Given the description of an element on the screen output the (x, y) to click on. 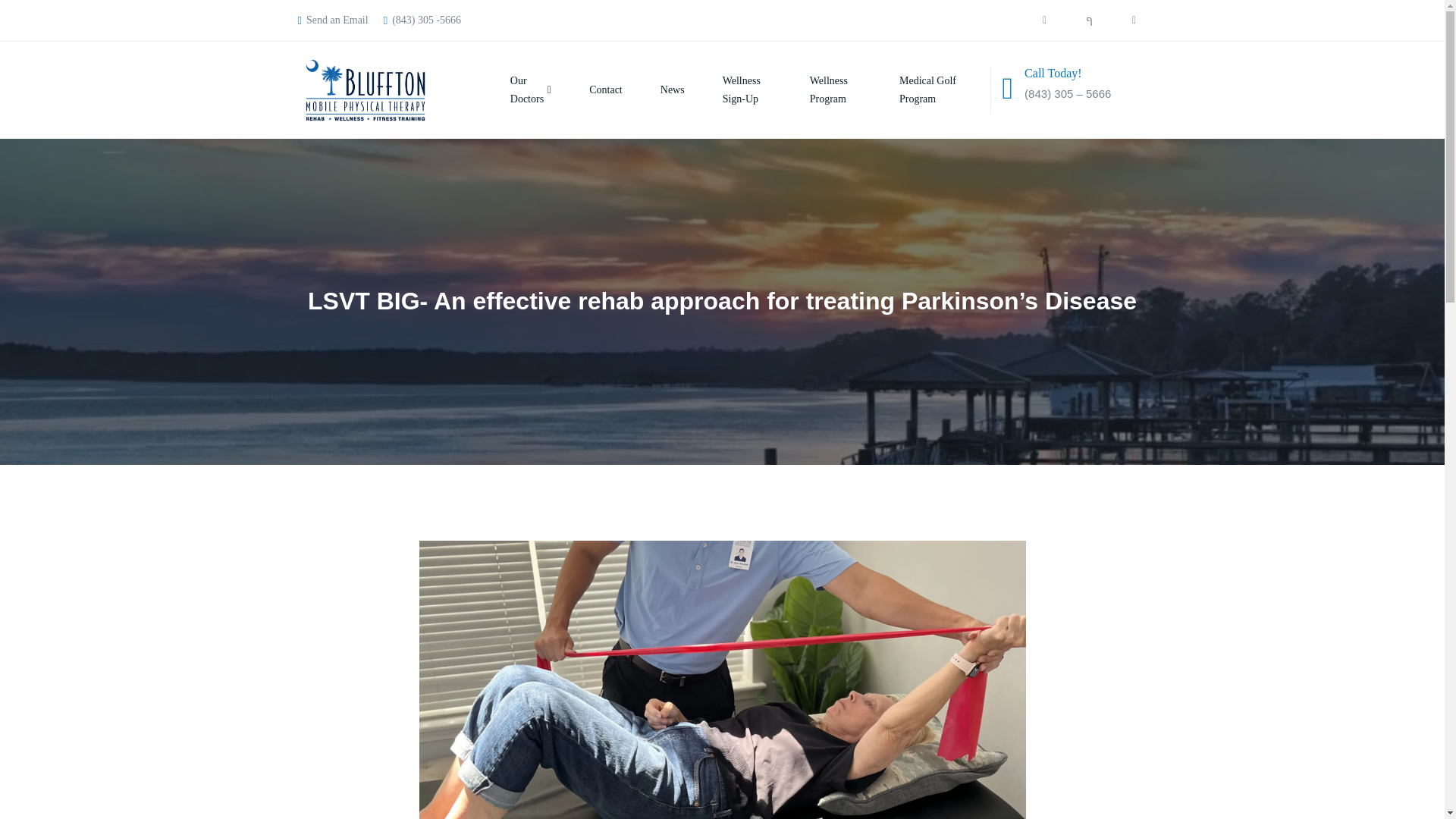
Contact (587, 89)
News (653, 89)
Send an Email (332, 19)
Our Doctors (511, 89)
Medical Golf Program (912, 89)
Wellness Program  (816, 89)
Wellness Sign-Up (727, 89)
